Given the description of an element on the screen output the (x, y) to click on. 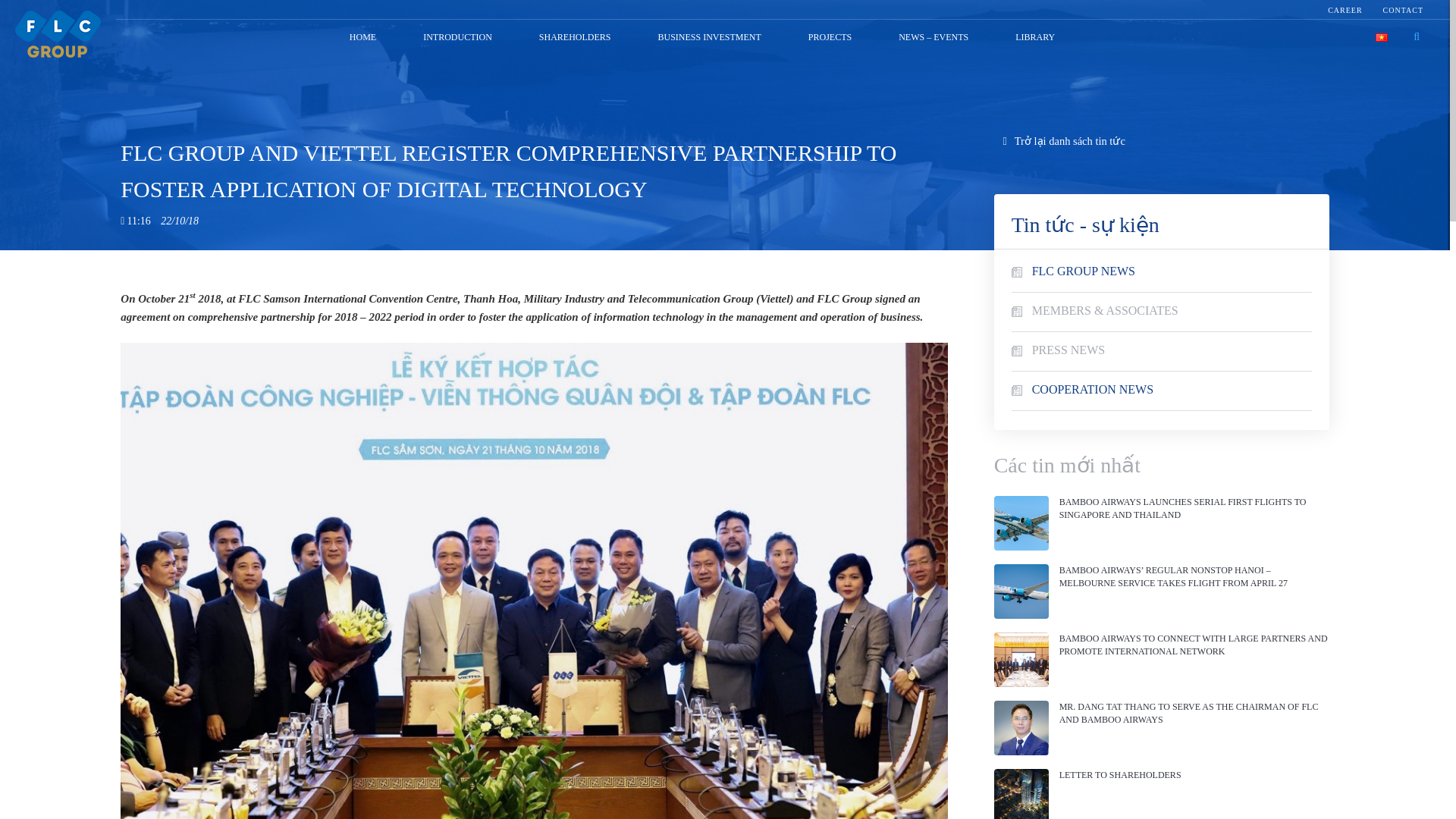
CAREER (1344, 9)
CONTACT (1403, 9)
SHAREHOLDERS (574, 37)
PROJECTS (829, 37)
LIBRARY (1034, 37)
BUSINESS INVESTMENT (708, 37)
INTRODUCTION (457, 37)
HOME (363, 37)
